Given the description of an element on the screen output the (x, y) to click on. 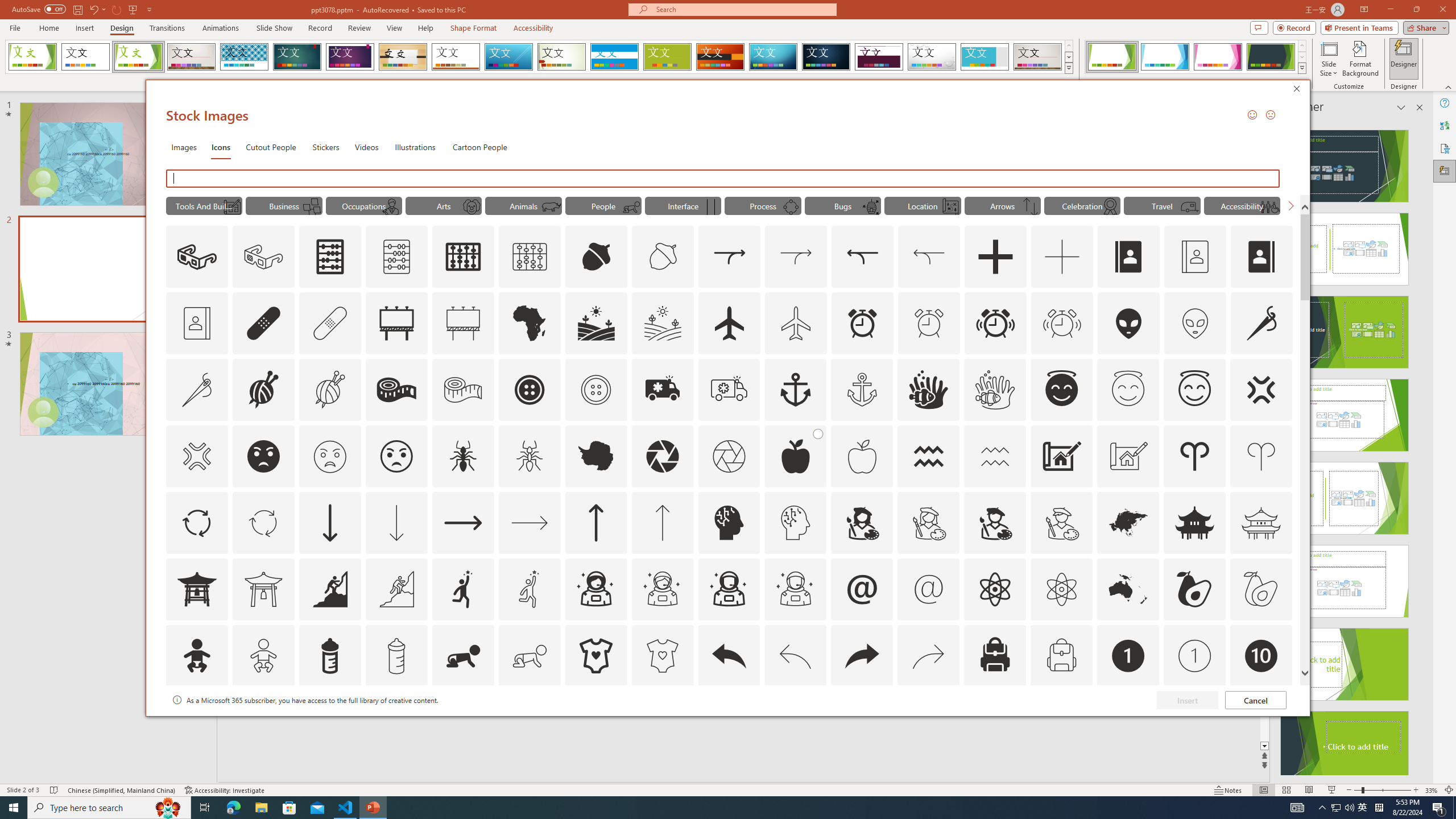
AutomationID: Icons_Aspiration1 (462, 588)
AutomationID: Icons_Advertising_M (462, 323)
AutomationID: Icons_ArrowCircle_M (263, 522)
AutomationID: Icons_AlterationsTailoring1_M (329, 389)
AutomationID: Icons_AsianTemple1 (196, 588)
AutomationID: Icons_AddressBook_LTR_M (1194, 256)
AutomationID: Icons_AlterationsTailoring_M (196, 389)
